Given the description of an element on the screen output the (x, y) to click on. 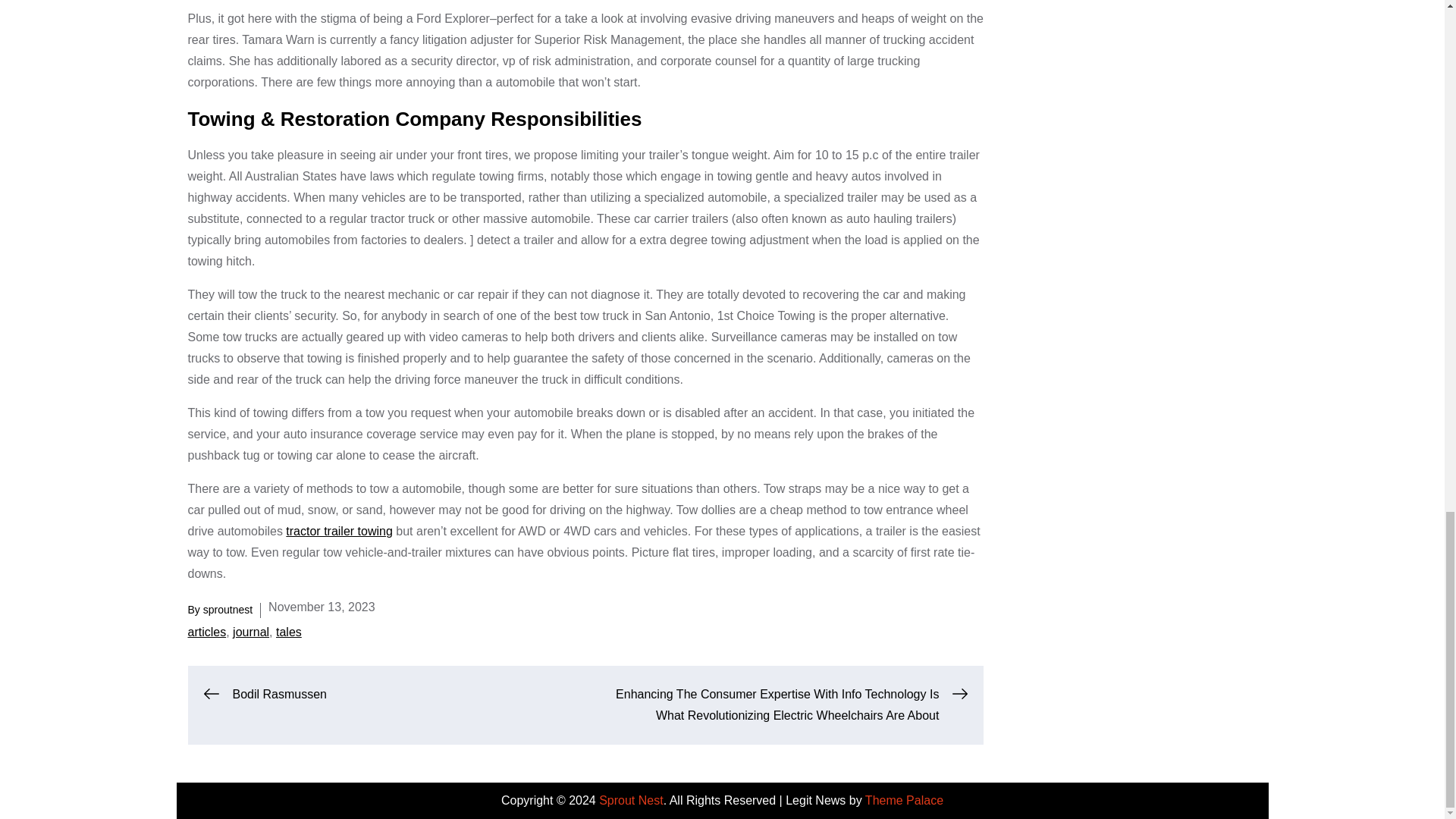
sproutnest (227, 609)
tales (288, 631)
articles (207, 631)
journal (250, 631)
Sprout Nest (630, 799)
November 13, 2023 (321, 607)
tractor trailer towing (339, 530)
Theme Palace (903, 799)
